Given the description of an element on the screen output the (x, y) to click on. 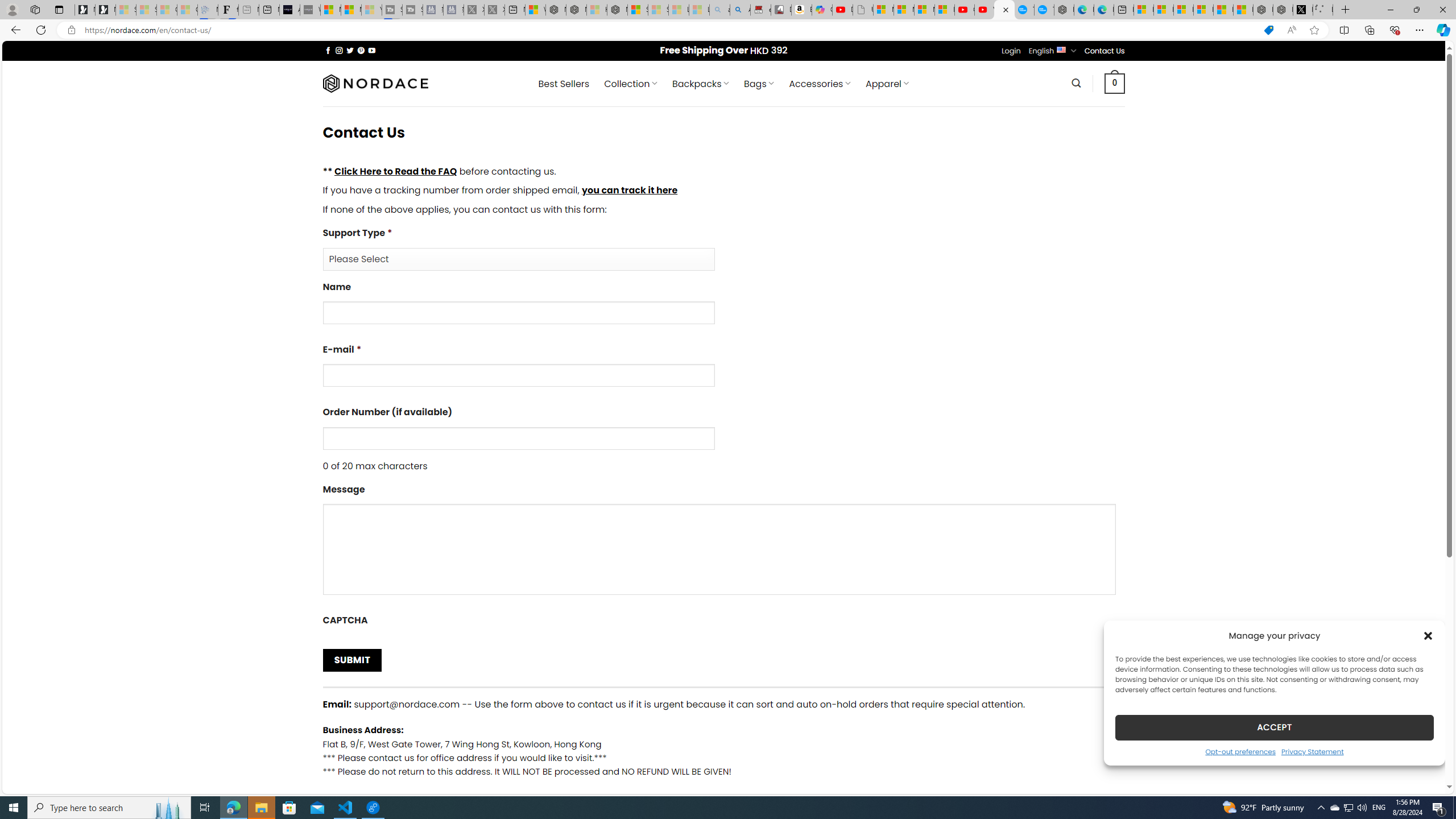
Follow on Facebook (327, 49)
This site has coupons! Shopping in Microsoft Edge (1268, 29)
Name (723, 306)
Nordace - Nordace has arrived Hong Kong (1063, 9)
E-mail* (723, 369)
amazon - Search - Sleeping (719, 9)
CAPTCHA (723, 621)
